Given the description of an element on the screen output the (x, y) to click on. 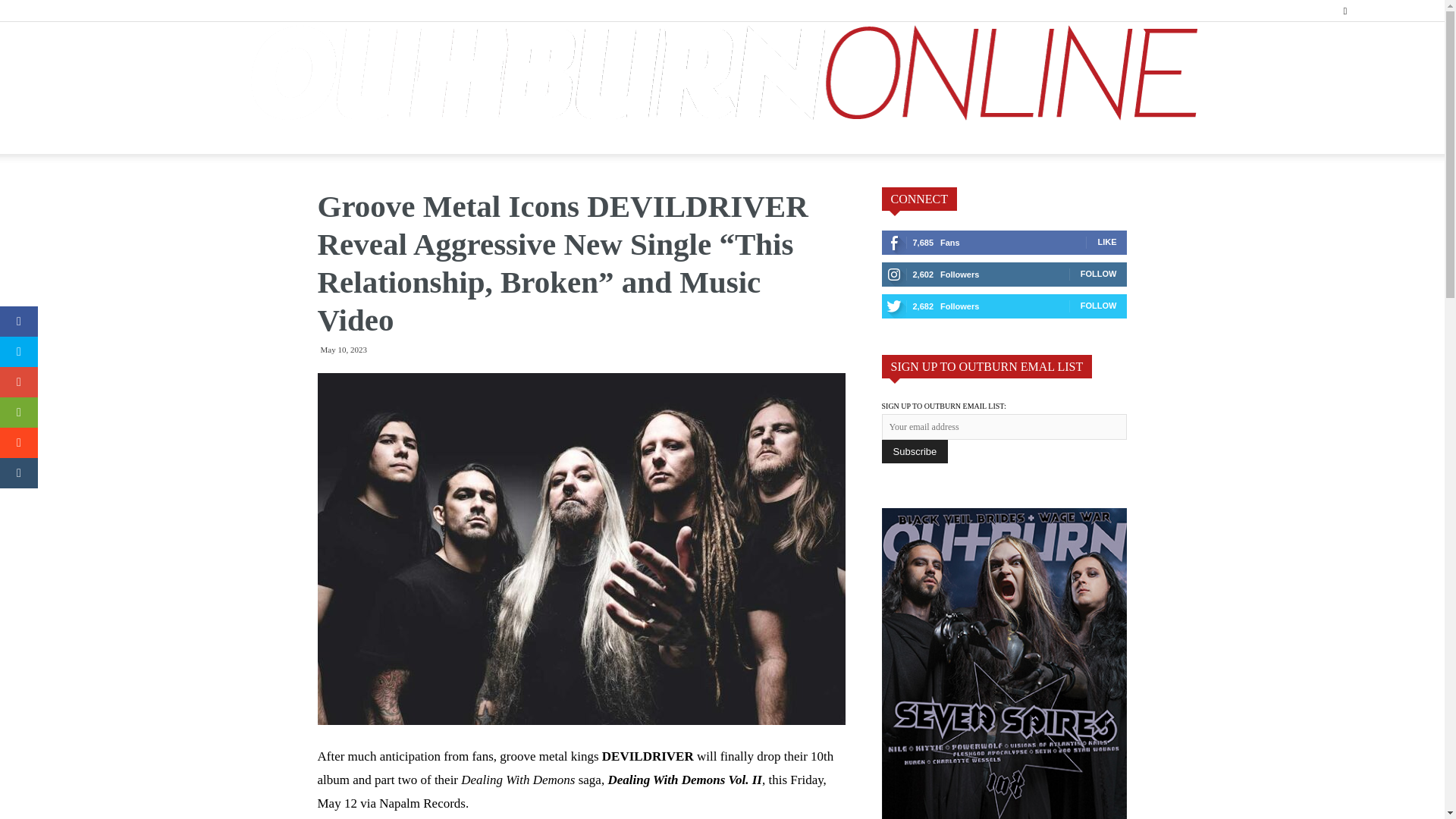
Twitter (1417, 10)
Subscribe (913, 451)
NEWS (385, 138)
Facebook (1367, 10)
Search (1379, 64)
OUTBURN ONLINE (721, 72)
Instagram (1393, 10)
HOME (304, 138)
Outburn Online (721, 72)
